Given the description of an element on the screen output the (x, y) to click on. 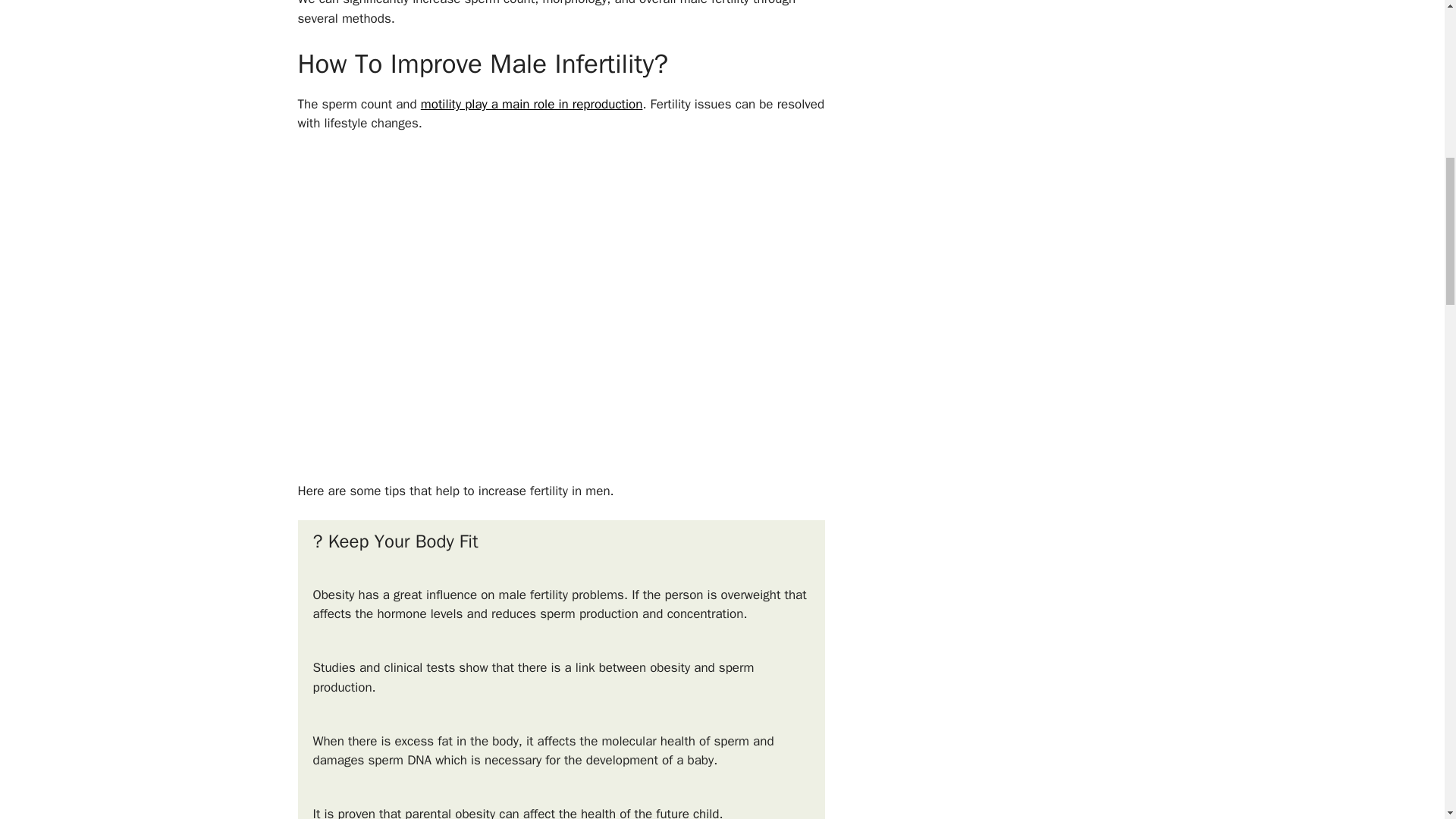
Scroll back to top (1406, 720)
motility play a main role in reproduction (531, 104)
